Given the description of an element on the screen output the (x, y) to click on. 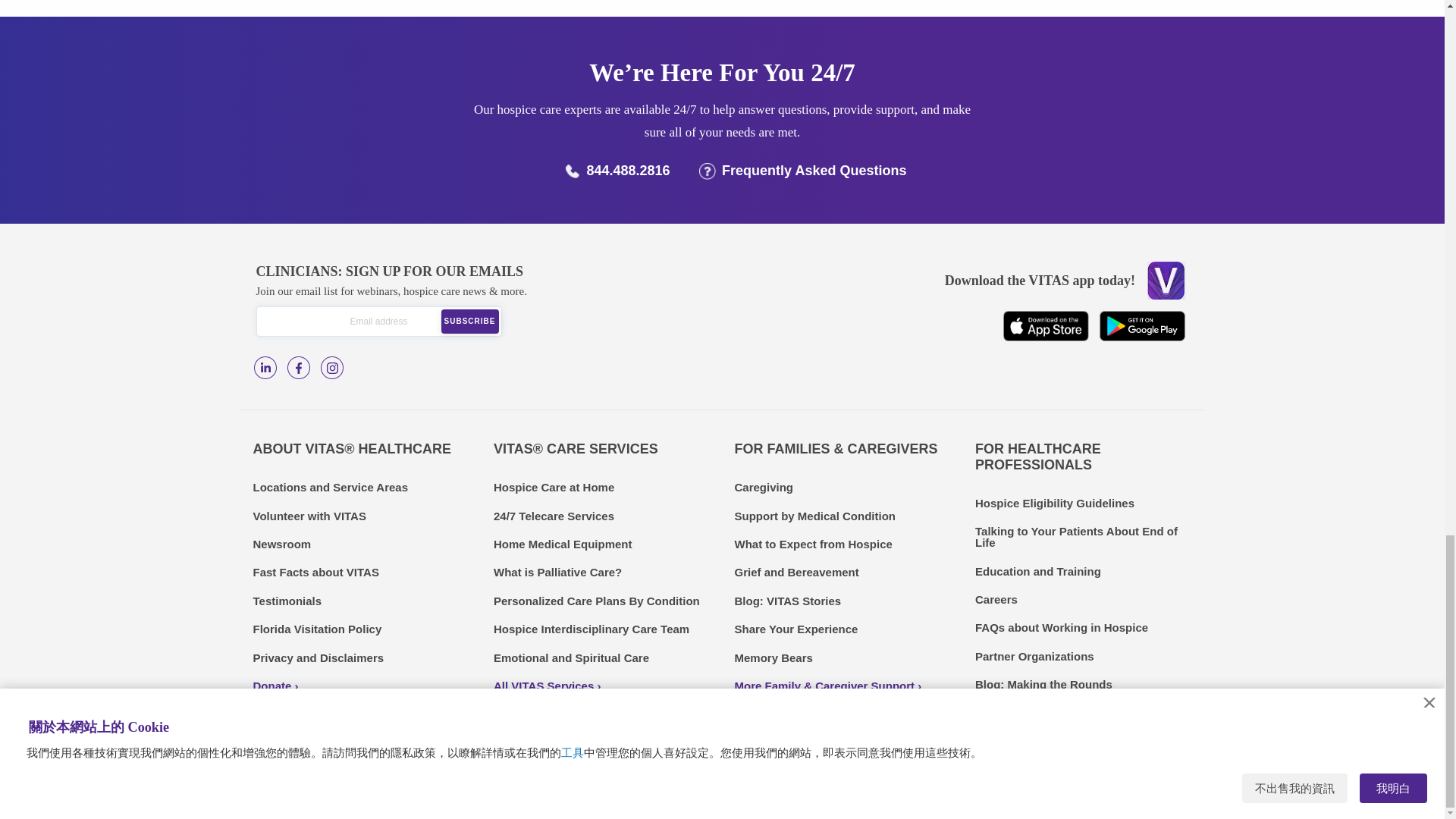
Global Switch (418, 789)
Subscribe (470, 321)
